Given the description of an element on the screen output the (x, y) to click on. 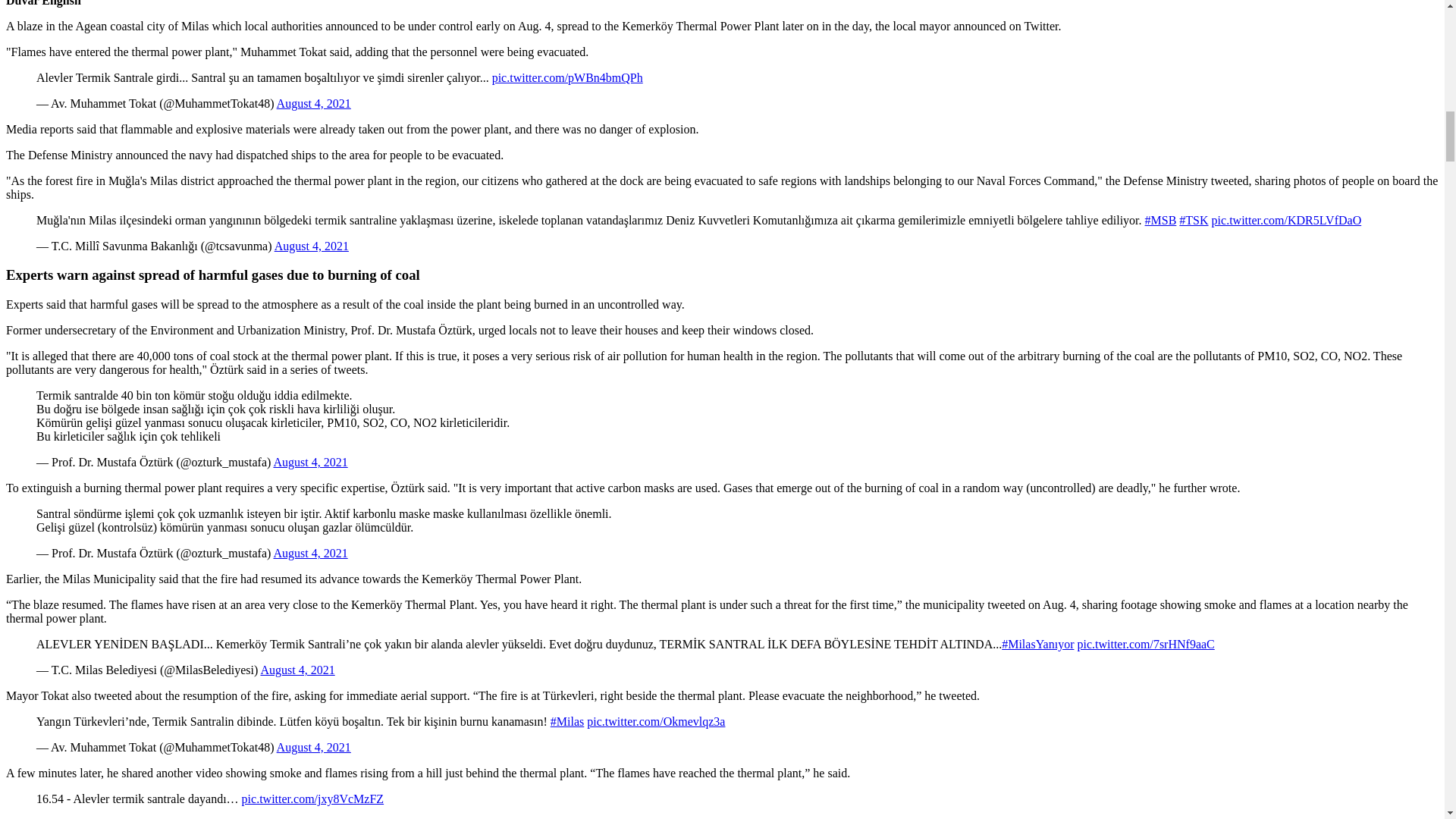
August 4, 2021 (310, 461)
August 4, 2021 (312, 245)
August 4, 2021 (310, 553)
August 4, 2021 (297, 669)
August 4, 2021 (313, 103)
August 4, 2021 (313, 747)
